Given the description of an element on the screen output the (x, y) to click on. 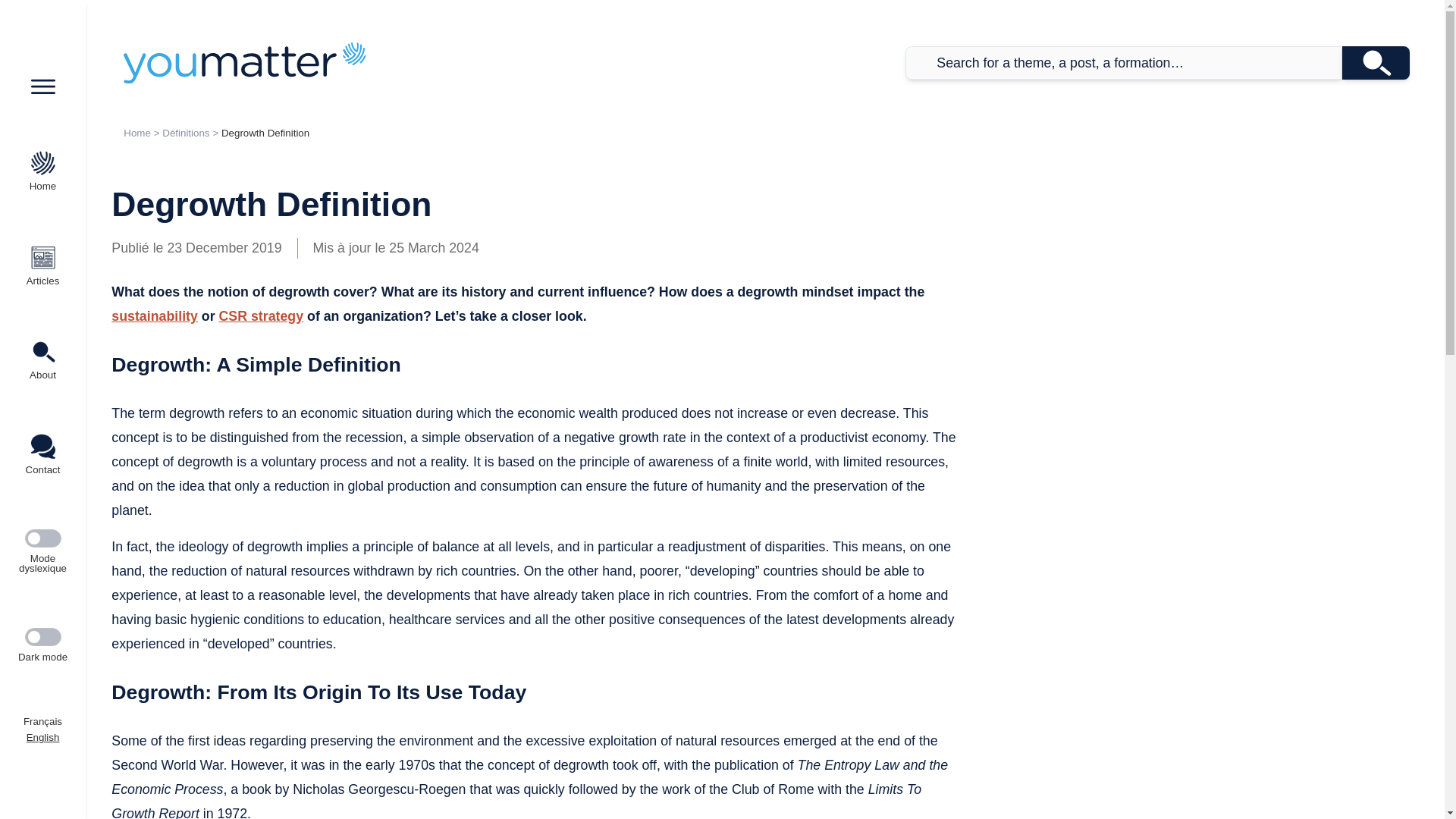
on (42, 538)
About (42, 359)
Contact (42, 454)
on (42, 637)
Home (42, 170)
Articles (42, 265)
Home (244, 62)
Home (137, 132)
CSR strategy (261, 315)
English (42, 737)
